Given the description of an element on the screen output the (x, y) to click on. 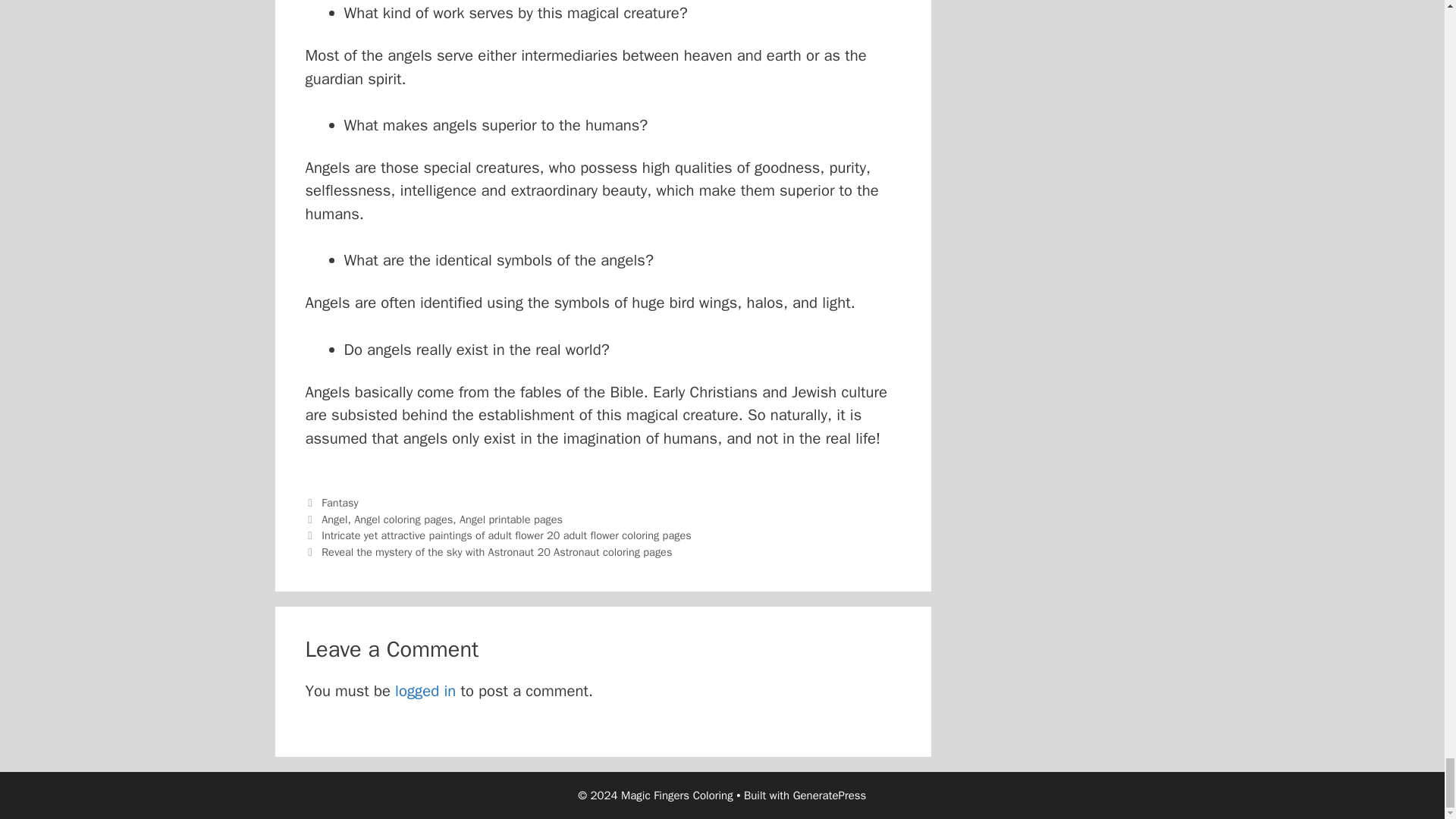
Angel (334, 519)
Fantasy (339, 502)
Angel coloring pages (402, 519)
logged in (424, 690)
Angel printable pages (511, 519)
